Given the description of an element on the screen output the (x, y) to click on. 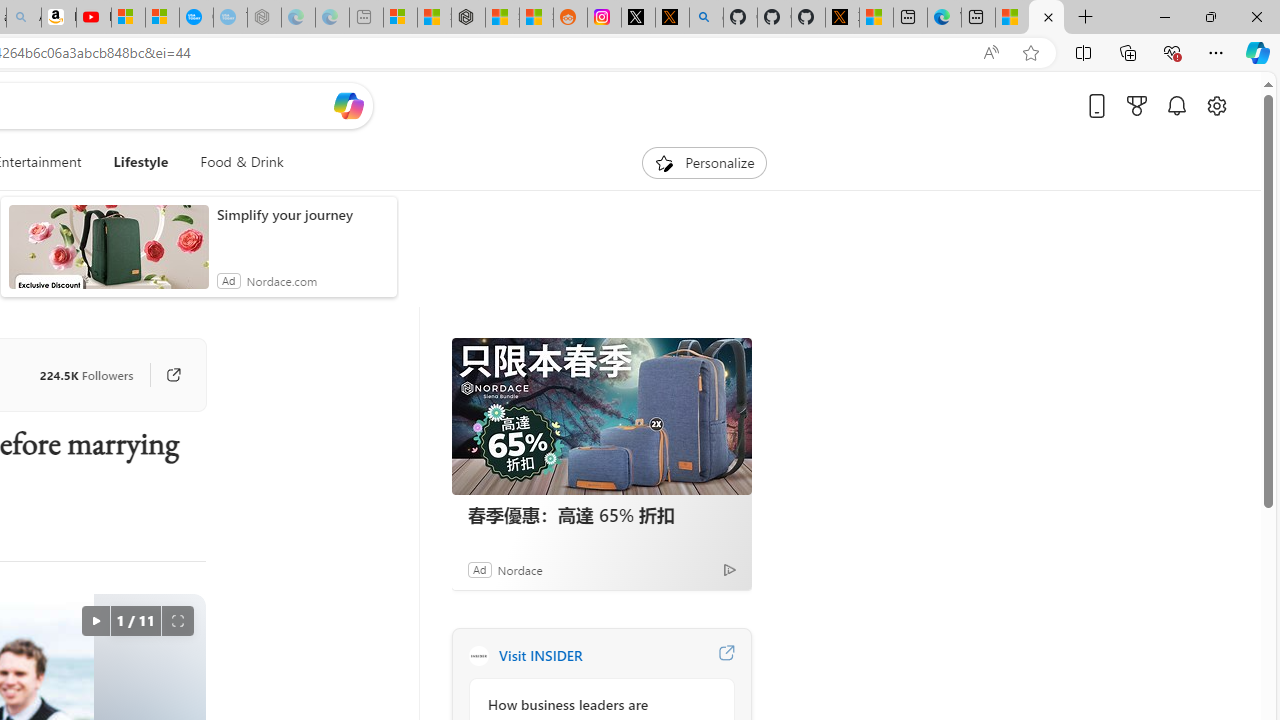
Log in to X / X (638, 17)
Food & Drink (234, 162)
The most popular Google 'how to' searches - Sleeping (230, 17)
Welcome to Microsoft Edge (944, 17)
New tab - Sleeping (365, 17)
Open Copilot (347, 105)
Copilot (Ctrl+Shift+.) (1258, 52)
Shanghai, China Weather trends | Microsoft Weather (535, 17)
Read aloud this page (Ctrl+Shift+U) (991, 53)
Nordace (519, 569)
Browser essentials (1171, 52)
Split screen (1083, 52)
Open Copilot (347, 105)
